Given the description of an element on the screen output the (x, y) to click on. 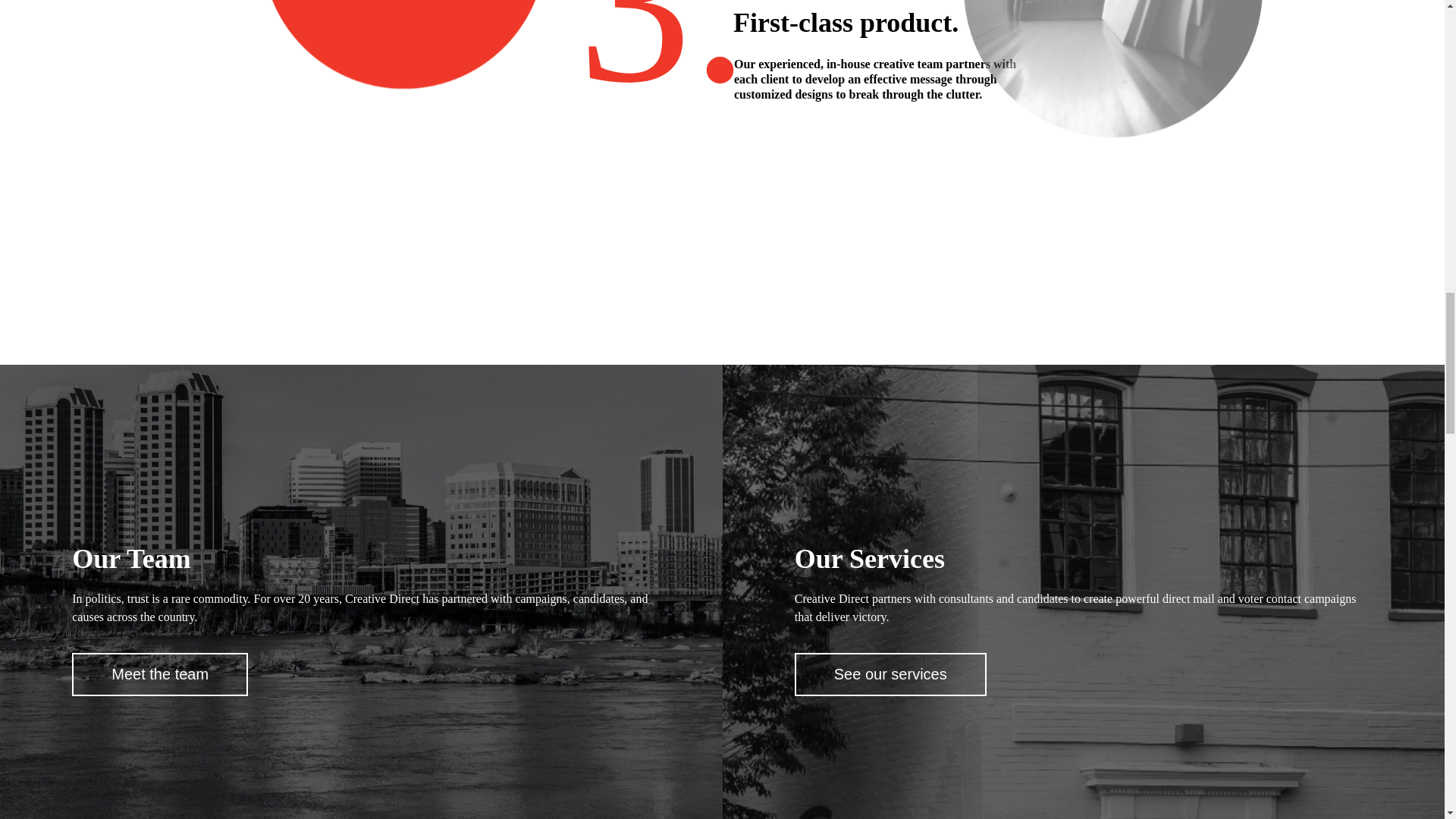
Team (159, 674)
Meet the team (159, 674)
See our services (890, 674)
Services (890, 674)
